Given the description of an element on the screen output the (x, y) to click on. 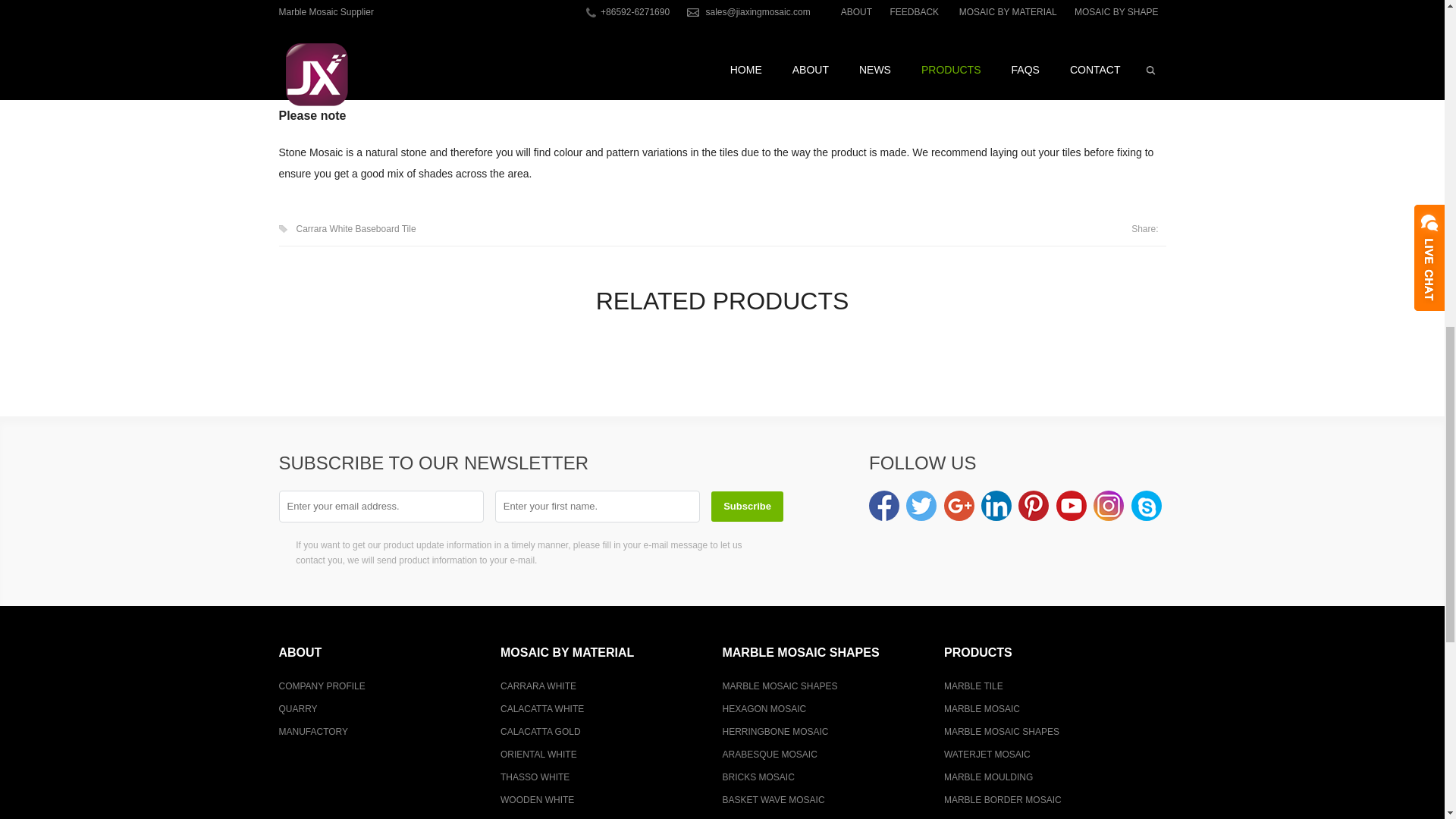
Subscribe (747, 506)
YouTube (1071, 505)
Pinterest (1032, 505)
LinkedIn (996, 505)
Skype (1146, 505)
Twitter (920, 505)
Instagram (1108, 505)
Facebook (884, 505)
